Given the description of an element on the screen output the (x, y) to click on. 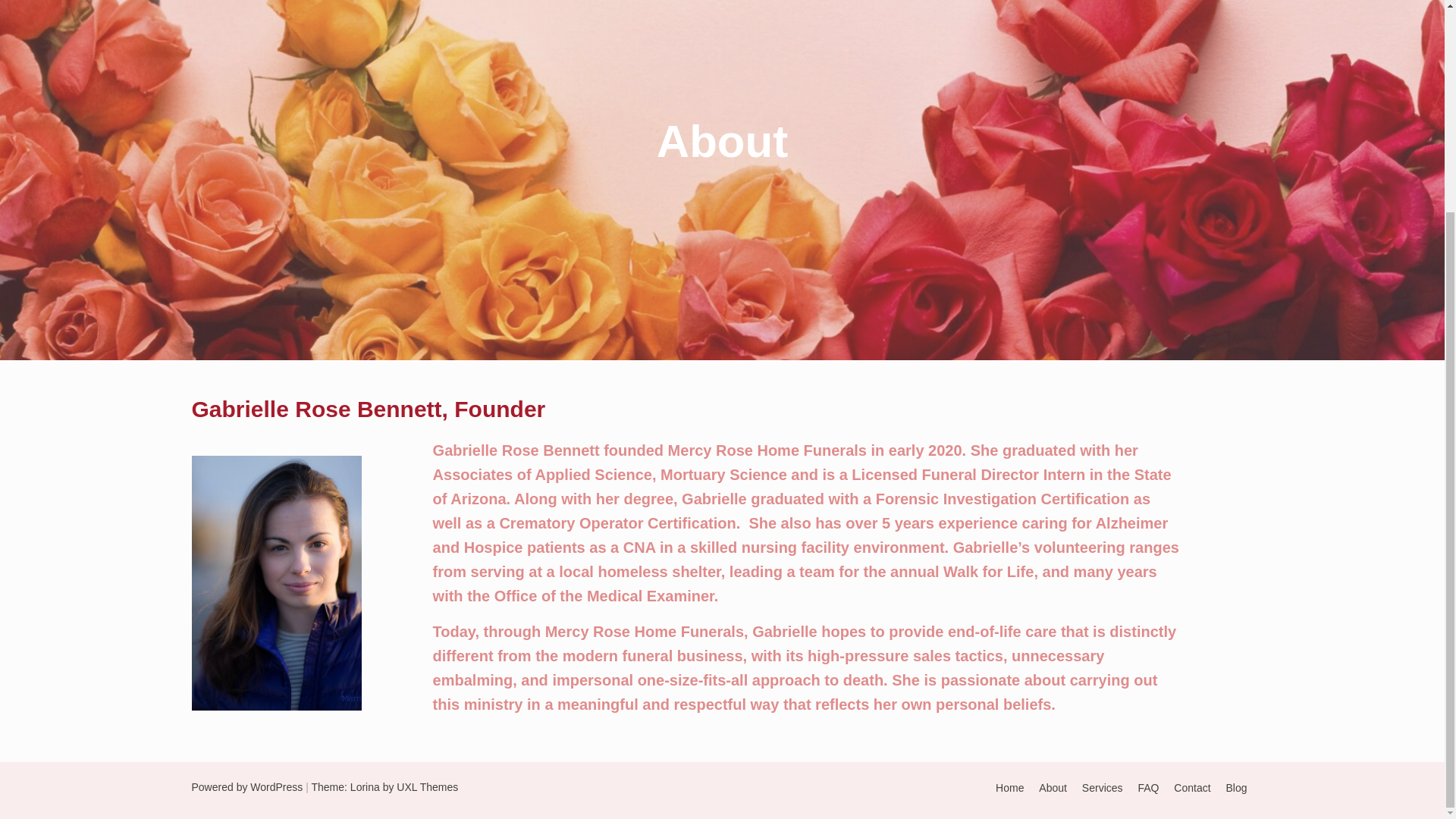
Welcome (1009, 787)
Contact (1191, 787)
Lorina (365, 787)
About (1053, 787)
Services (1101, 787)
FAQ (1147, 787)
Home (1009, 787)
Powered by WordPress (246, 787)
Blog (1235, 787)
